Given the description of an element on the screen output the (x, y) to click on. 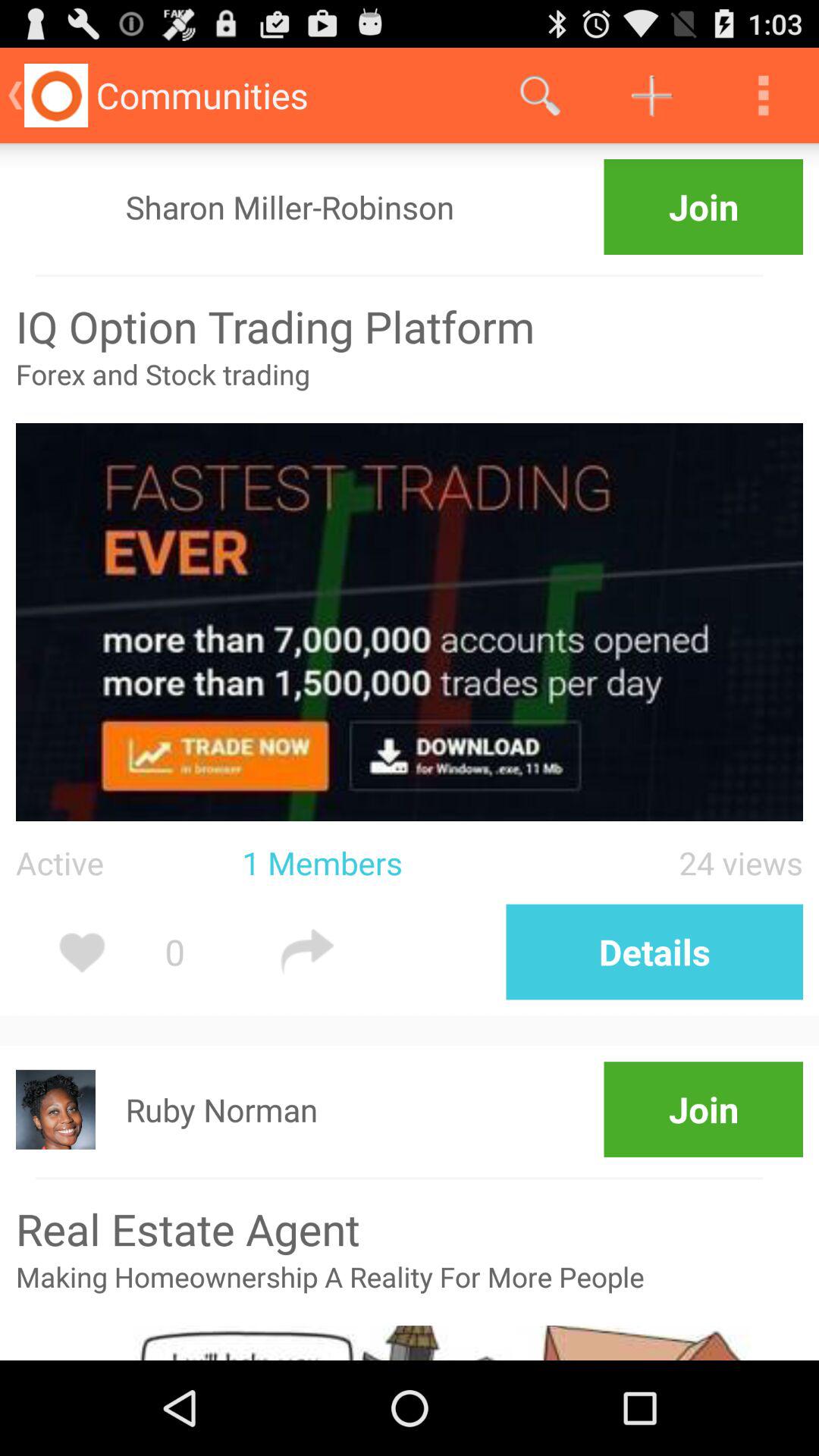
launch forex and stock icon (409, 389)
